Given the description of an element on the screen output the (x, y) to click on. 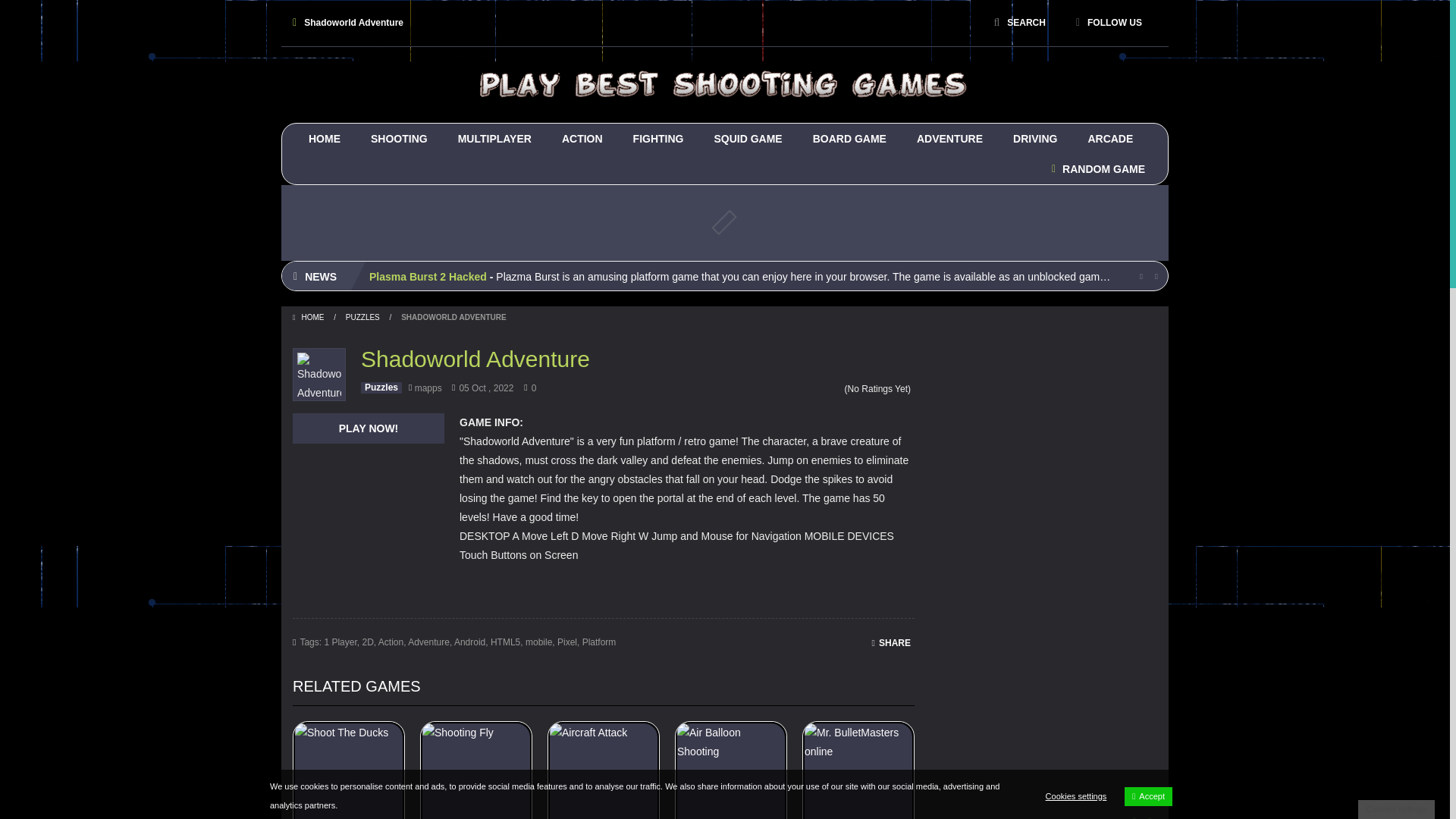
HOME (324, 138)
SQUID GAME (747, 138)
ACTION (582, 138)
BOARD GAME (849, 138)
ADVENTURE (949, 138)
Plazma Burst 2 (723, 84)
FOLLOW US (1108, 22)
Plazma Burst 2 (723, 83)
Play a random game! (1098, 168)
RANDOM GAME (1098, 168)
